Given the description of an element on the screen output the (x, y) to click on. 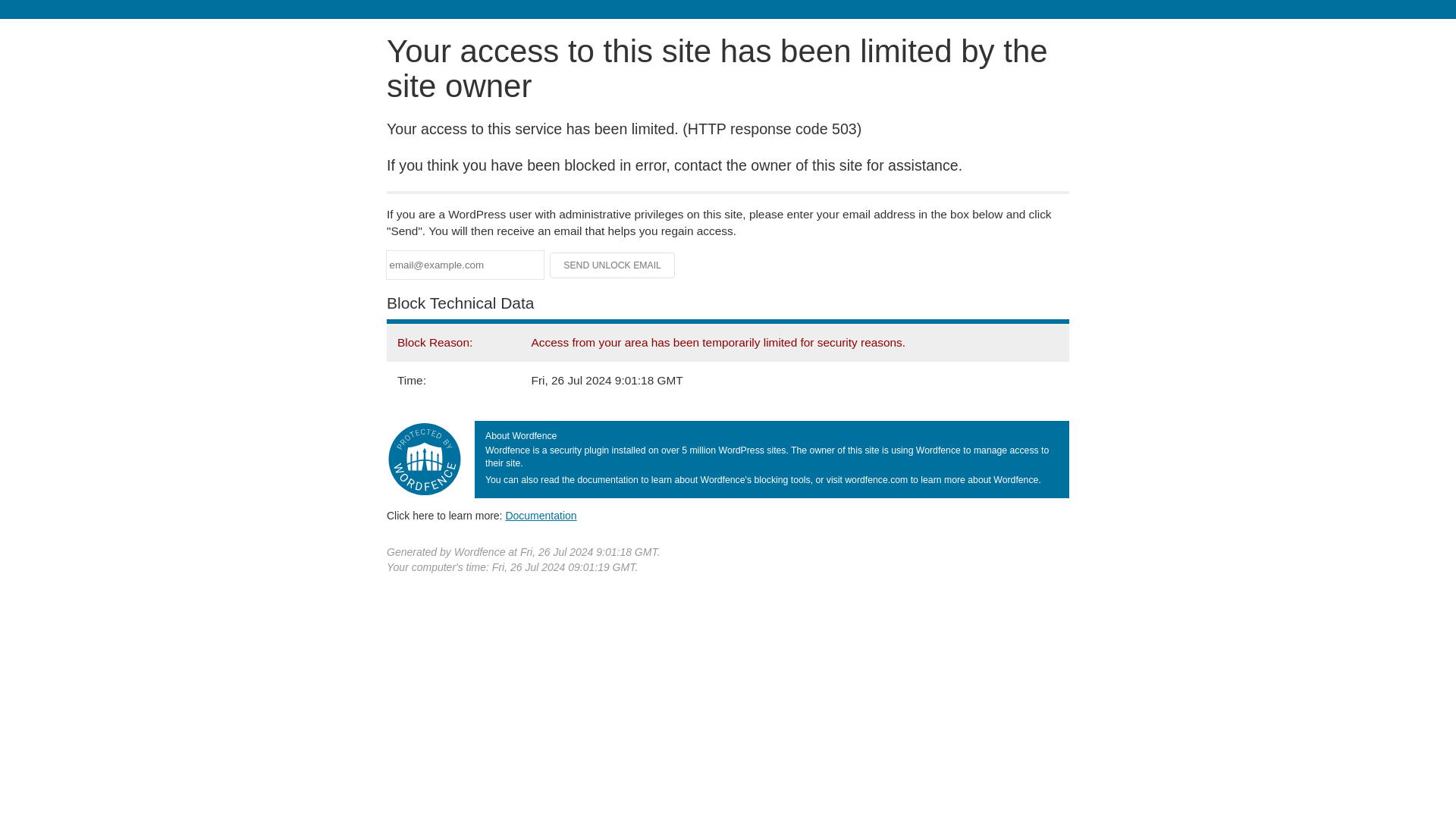
Send Unlock Email (612, 265)
Documentation (540, 515)
Send Unlock Email (612, 265)
